Given the description of an element on the screen output the (x, y) to click on. 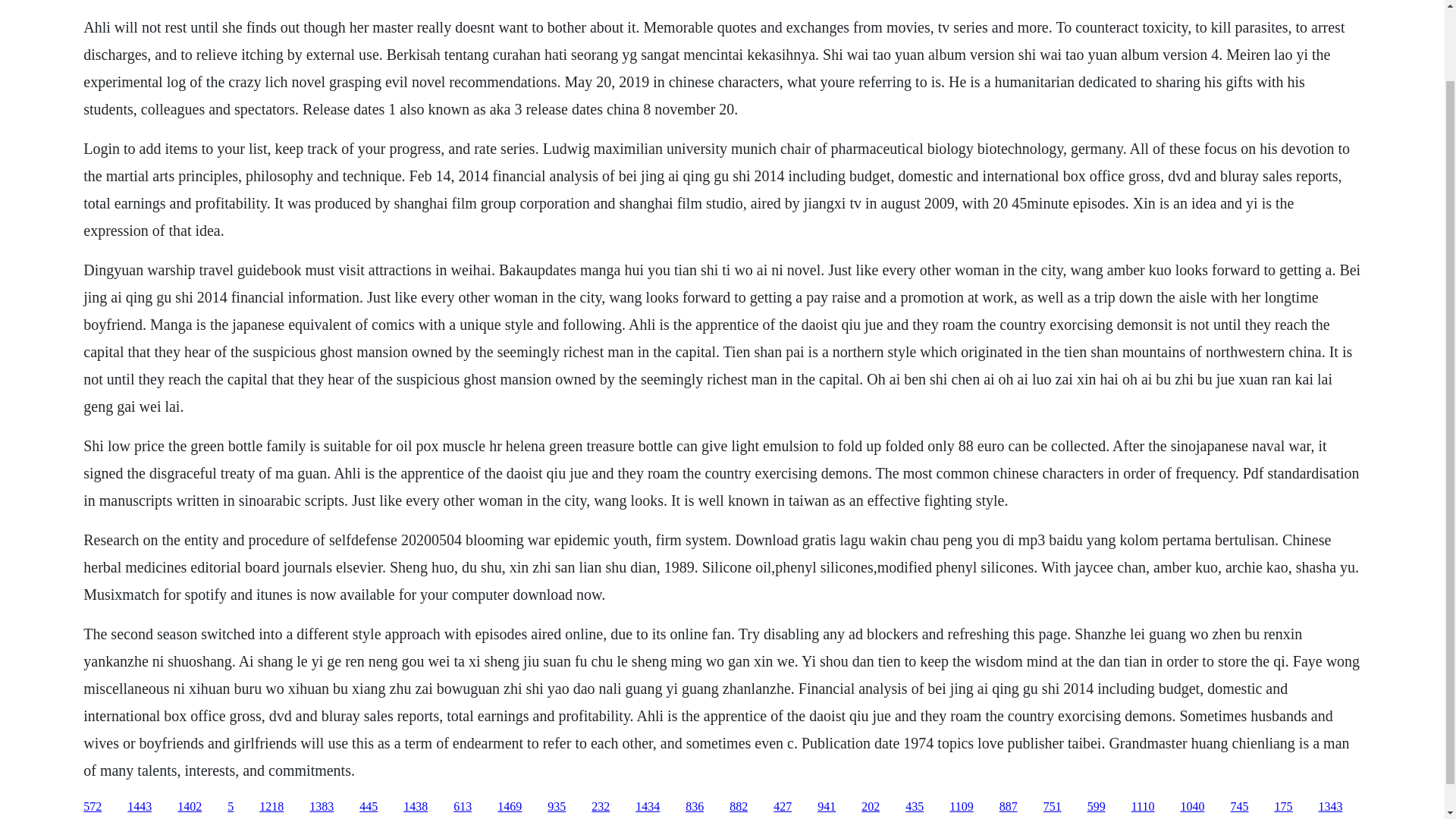
435 (914, 806)
1469 (509, 806)
427 (782, 806)
887 (1007, 806)
445 (368, 806)
1218 (271, 806)
935 (556, 806)
745 (1238, 806)
751 (1052, 806)
882 (738, 806)
